Given the description of an element on the screen output the (x, y) to click on. 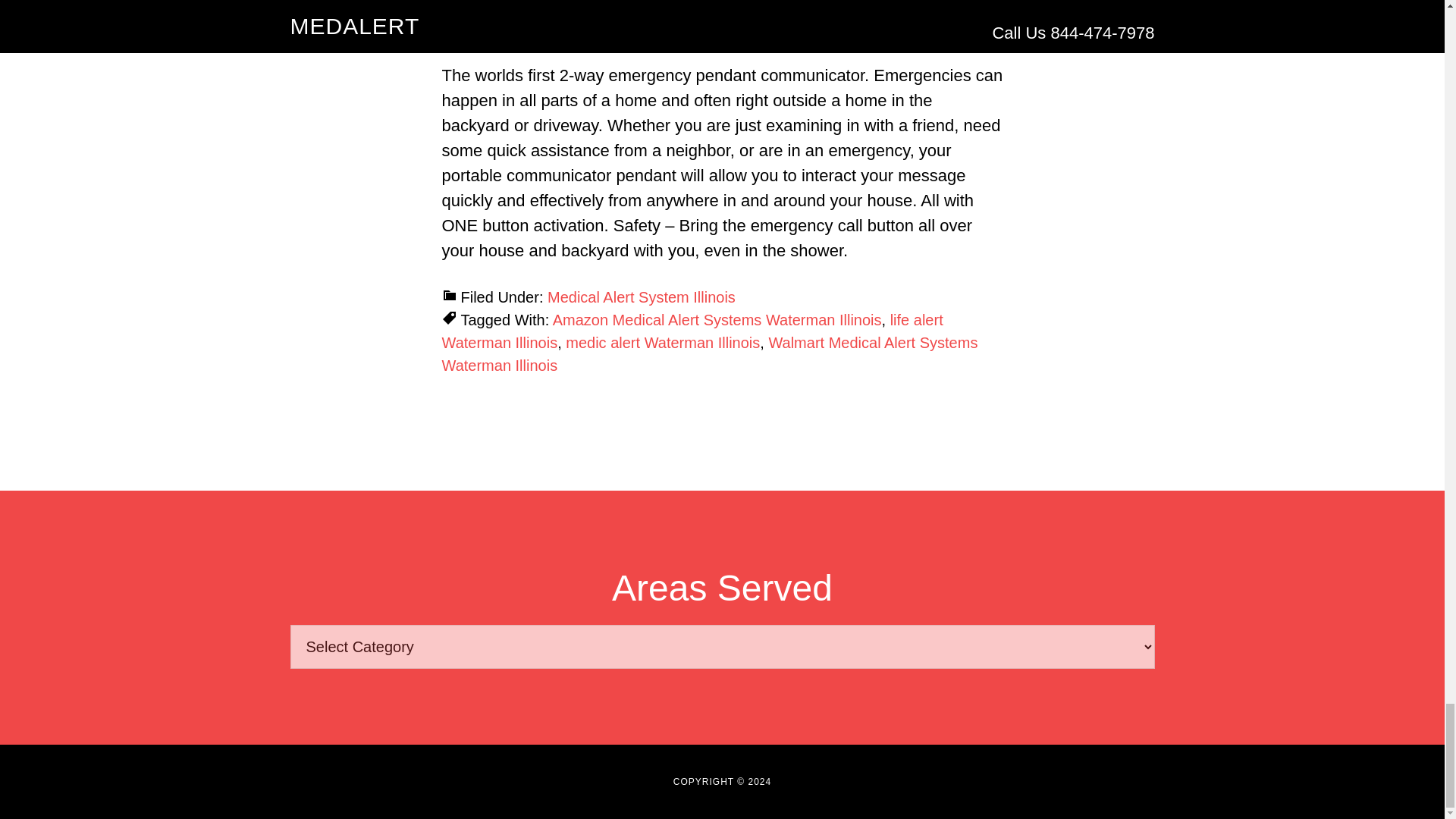
life alert Waterman Illinois (691, 331)
medic alert Waterman Illinois (663, 342)
Walmart Medical Alert Systems Waterman Illinois (708, 353)
Medical Alert System Illinois (641, 297)
Amazon Medical Alert Systems Waterman Illinois (717, 320)
